Given the description of an element on the screen output the (x, y) to click on. 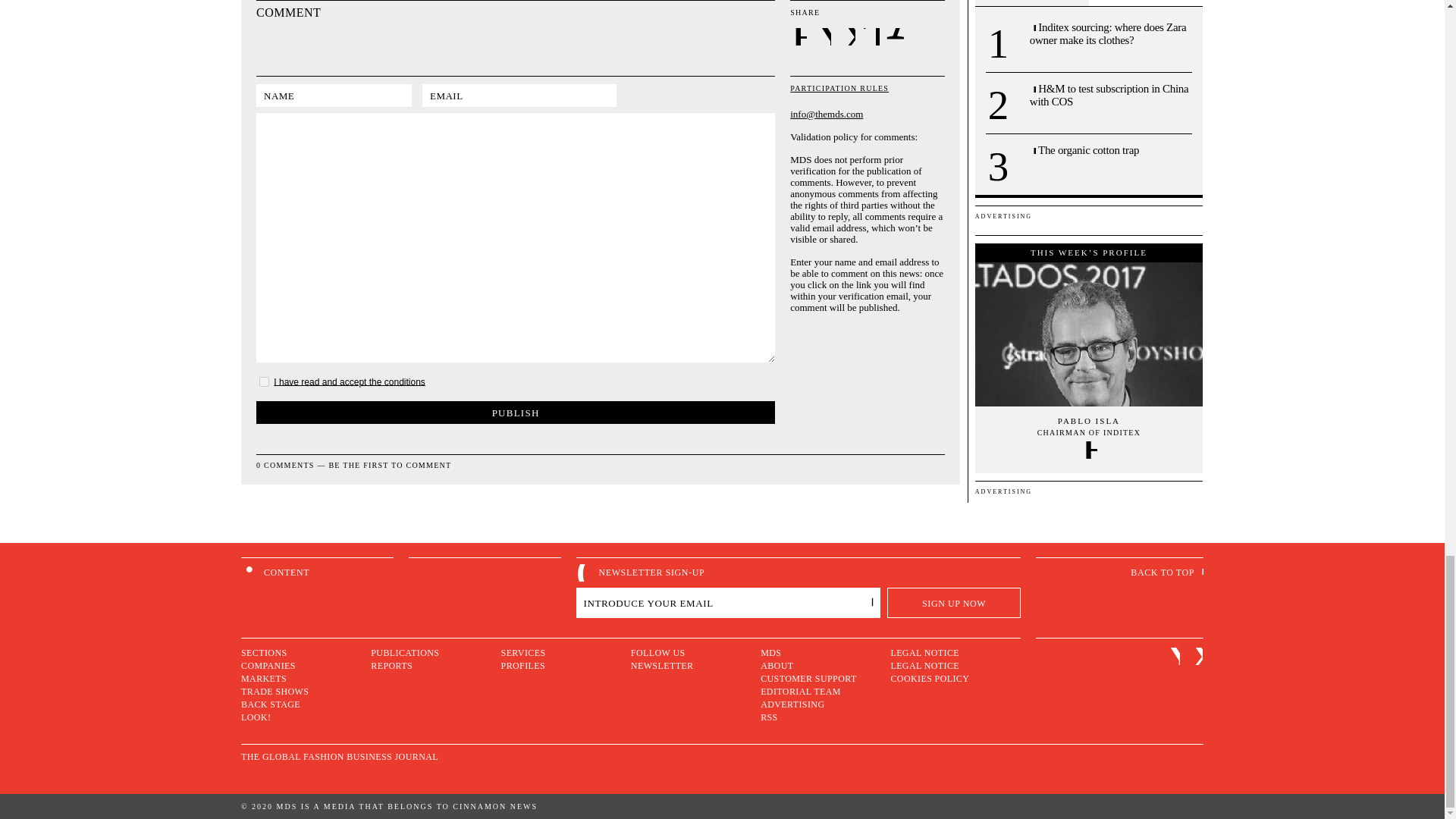
PUBLISH (515, 412)
E (799, 36)
A (895, 36)
T (872, 36)
X (847, 36)
I have read and accept the conditions (349, 380)
1 (264, 381)
Y (822, 36)
